Given the description of an element on the screen output the (x, y) to click on. 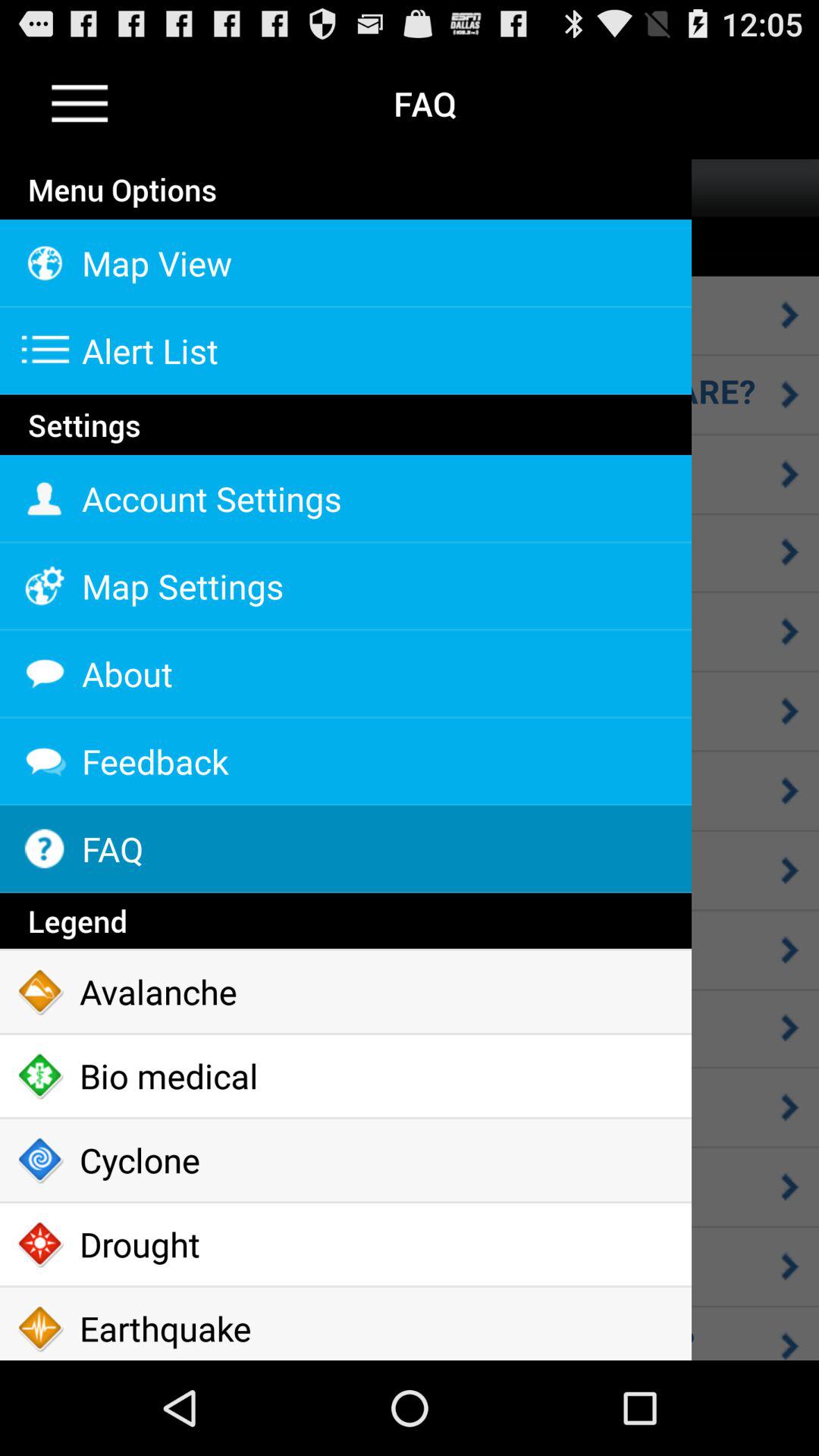
select the icon below legend icon (345, 991)
